Given the description of an element on the screen output the (x, y) to click on. 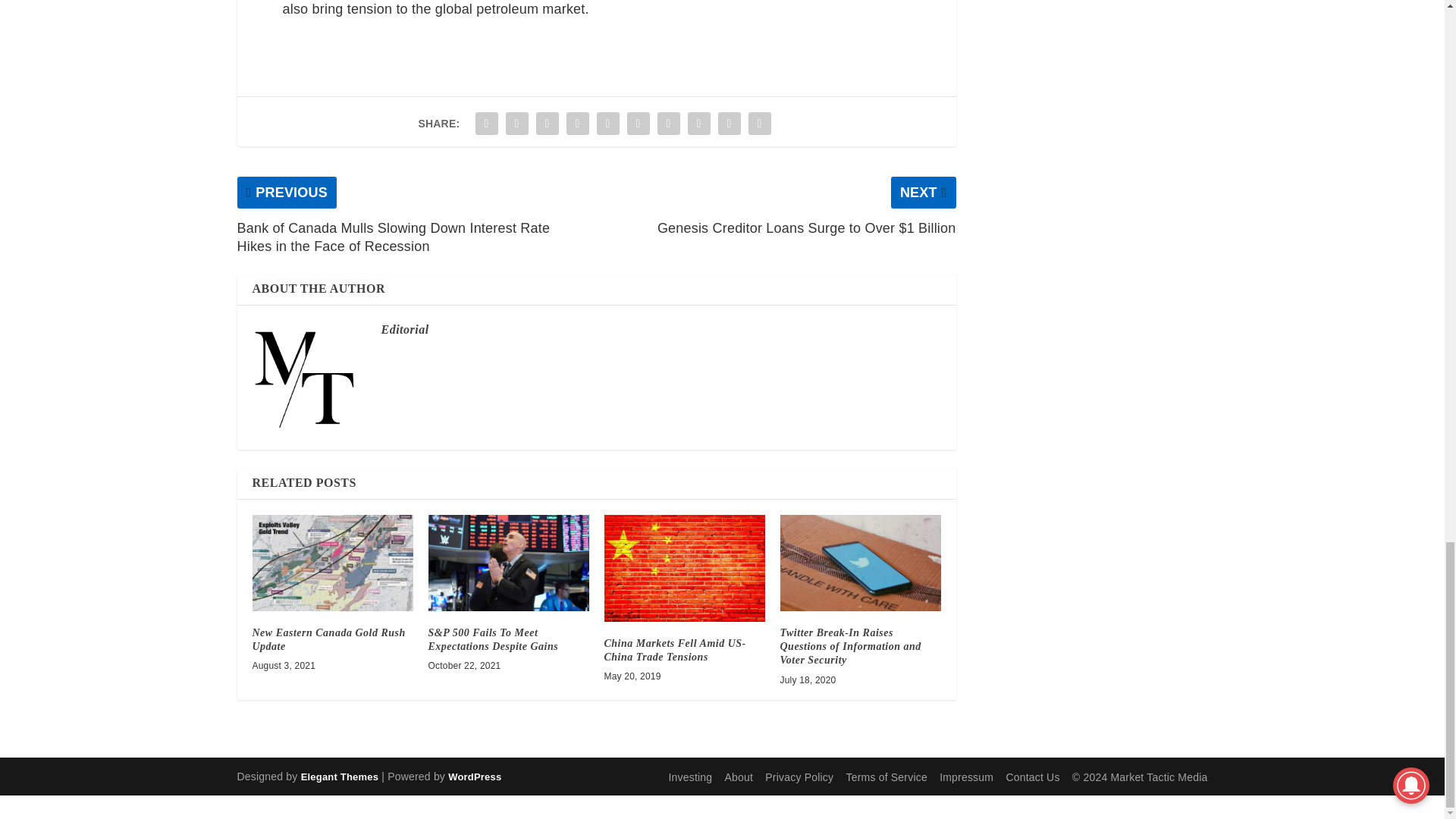
New Eastern Canada Gold Rush Update (331, 562)
View all posts by Editorial (404, 328)
China Markets Fell Amid US-China Trade Tensions (674, 650)
New Eastern Canada Gold Rush Update (327, 639)
Editorial (404, 328)
China Markets Fell Amid US-China Trade Tensions (684, 568)
